Given the description of an element on the screen output the (x, y) to click on. 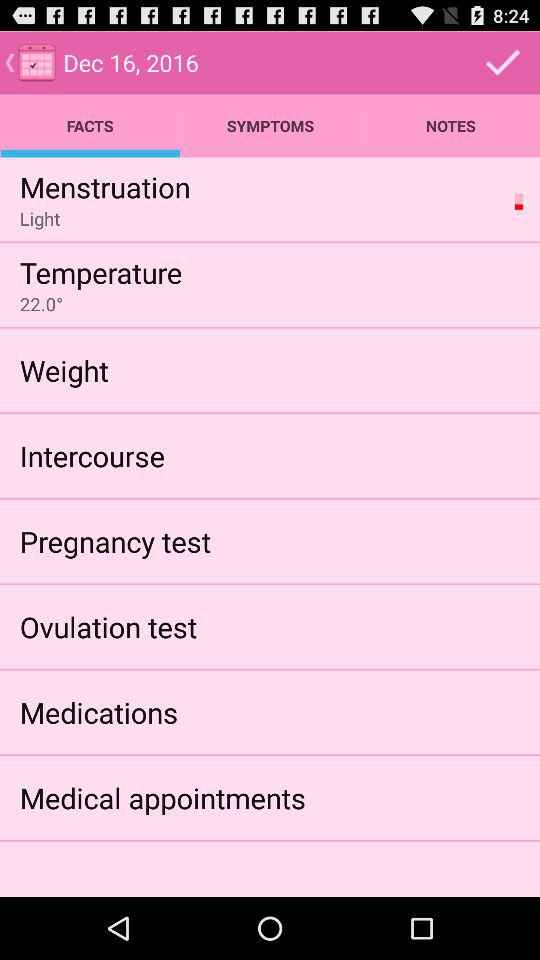
press the icon above medications app (108, 626)
